Given the description of an element on the screen output the (x, y) to click on. 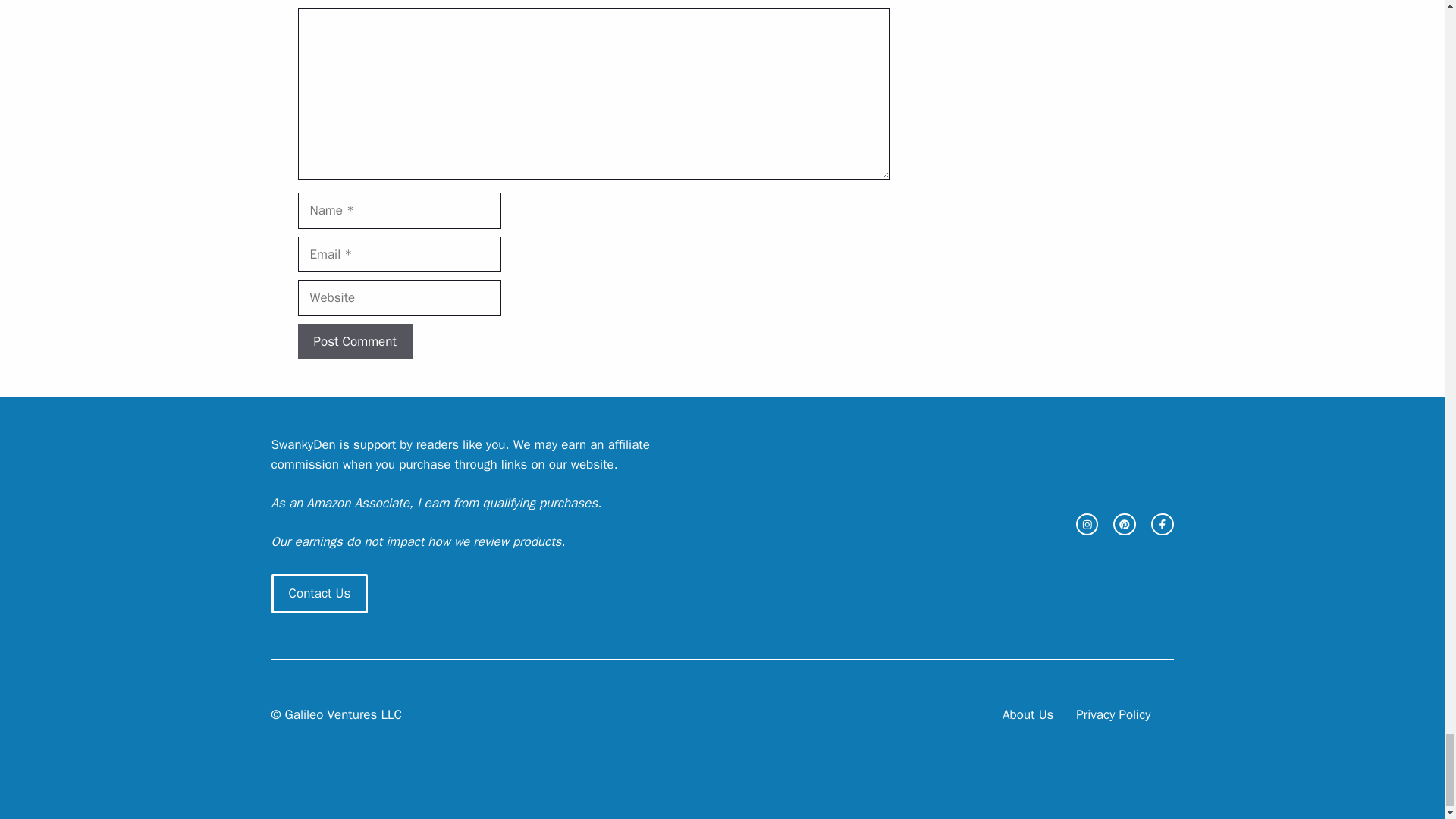
Post Comment (354, 341)
